Given the description of an element on the screen output the (x, y) to click on. 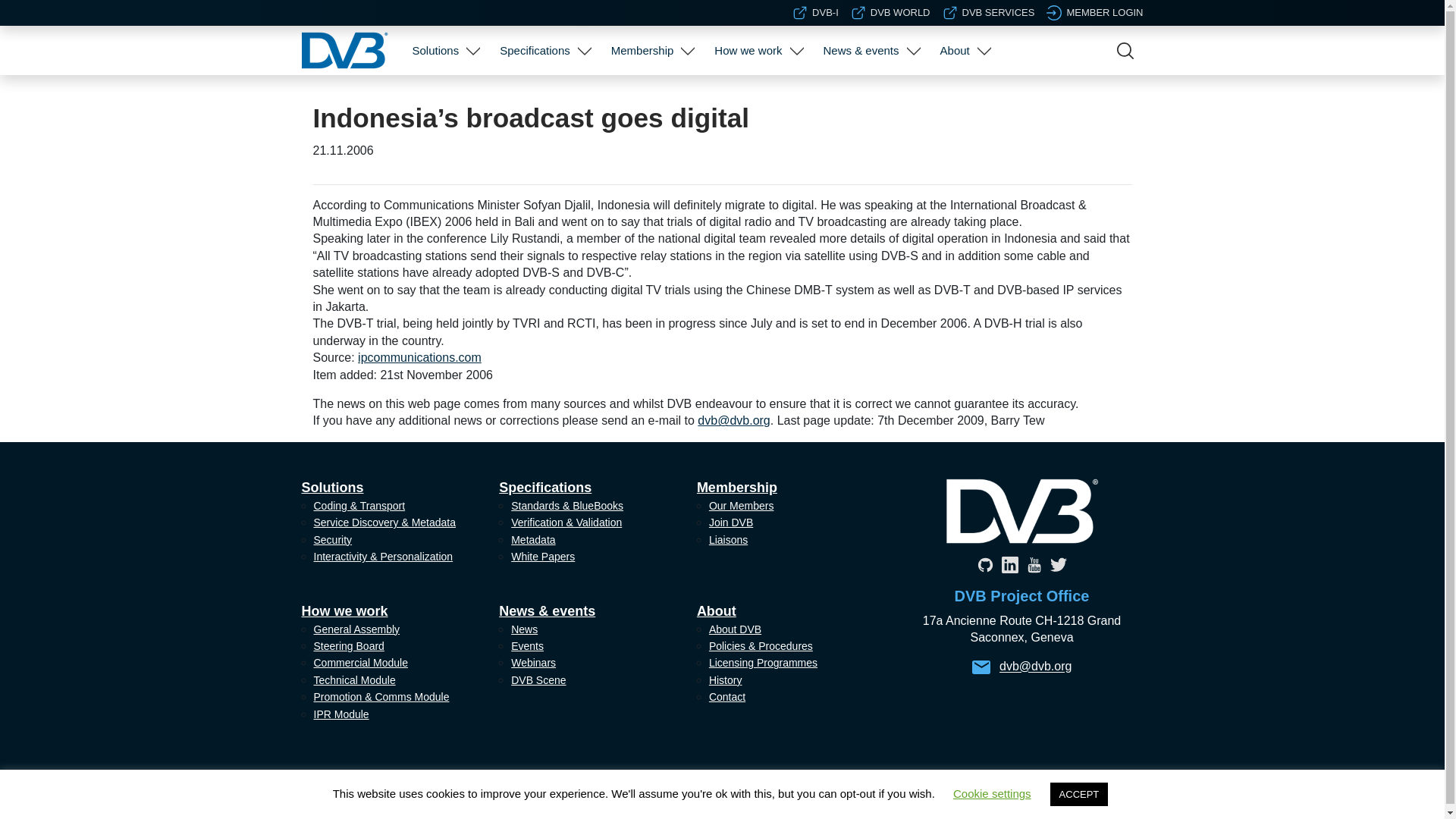
News (869, 95)
About DVB (962, 95)
LinkedIn Profile (1009, 564)
DVB-I (815, 12)
Solutions (435, 50)
DVB SERVICES (988, 12)
YouTube Profile (1033, 564)
Twitter Profile (1057, 564)
Github Profile (984, 564)
General Assembly (756, 95)
